Given the description of an element on the screen output the (x, y) to click on. 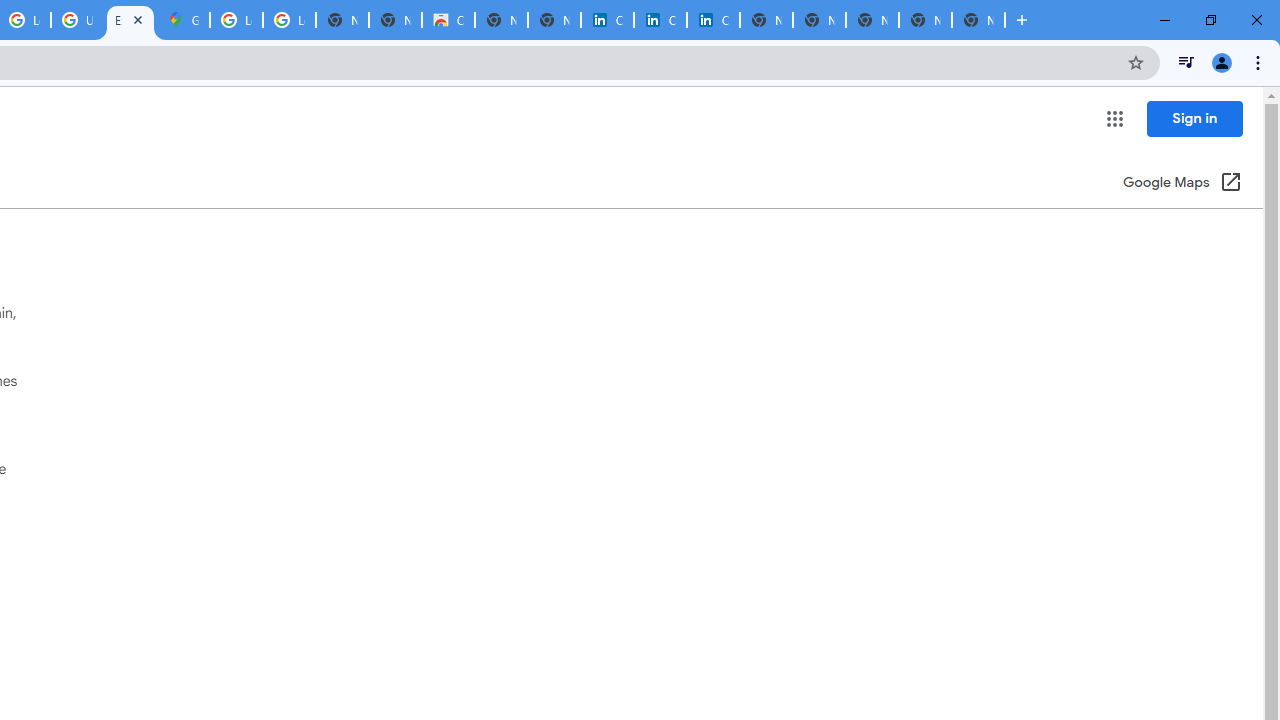
Chrome Web Store (448, 20)
Cookie Policy | LinkedIn (660, 20)
Cookie Policy | LinkedIn (607, 20)
New Tab (978, 20)
Google Maps (Open in a new window) (1182, 183)
